Given the description of an element on the screen output the (x, y) to click on. 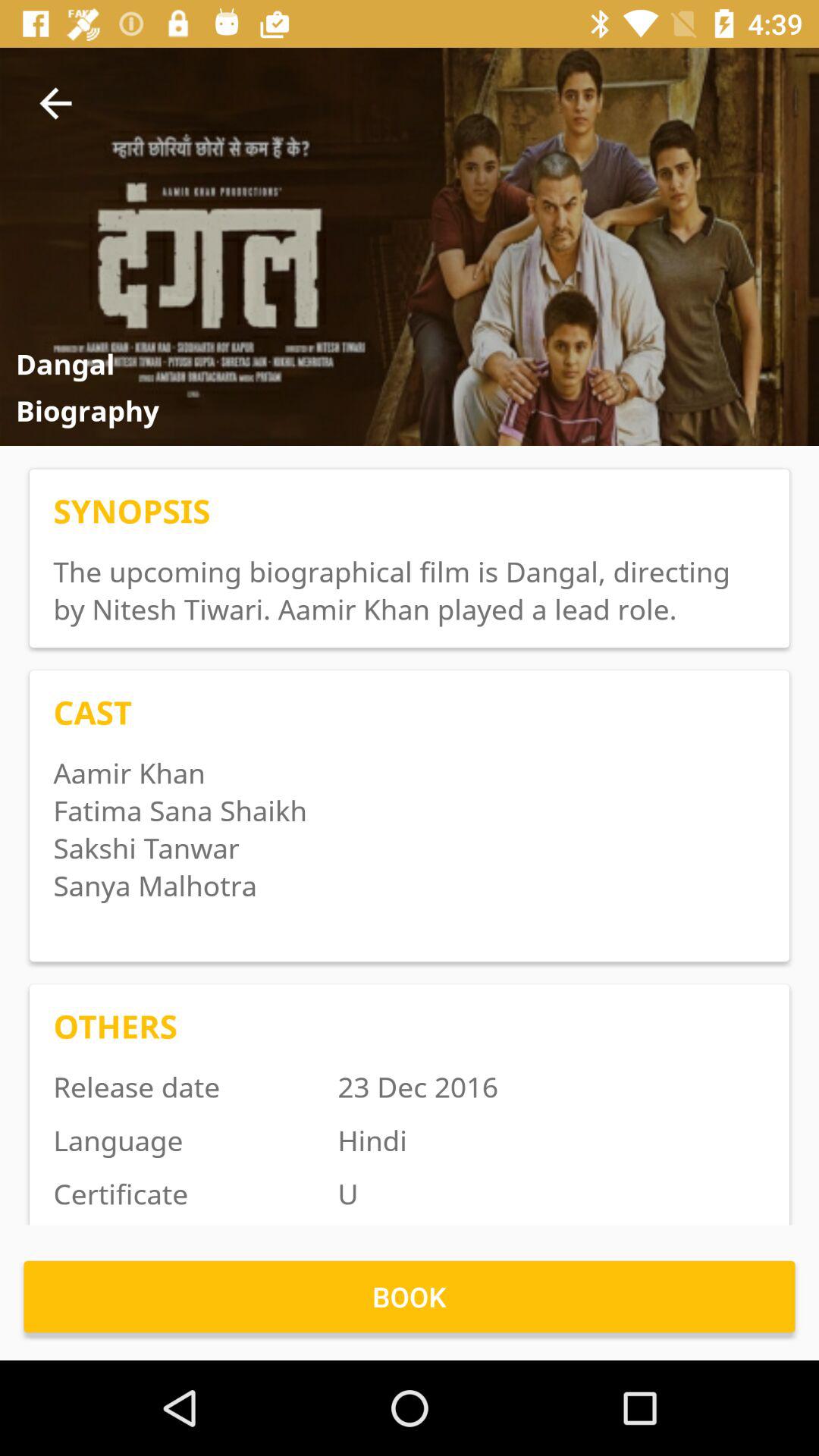
press icon to the left of the   item (55, 103)
